Given the description of an element on the screen output the (x, y) to click on. 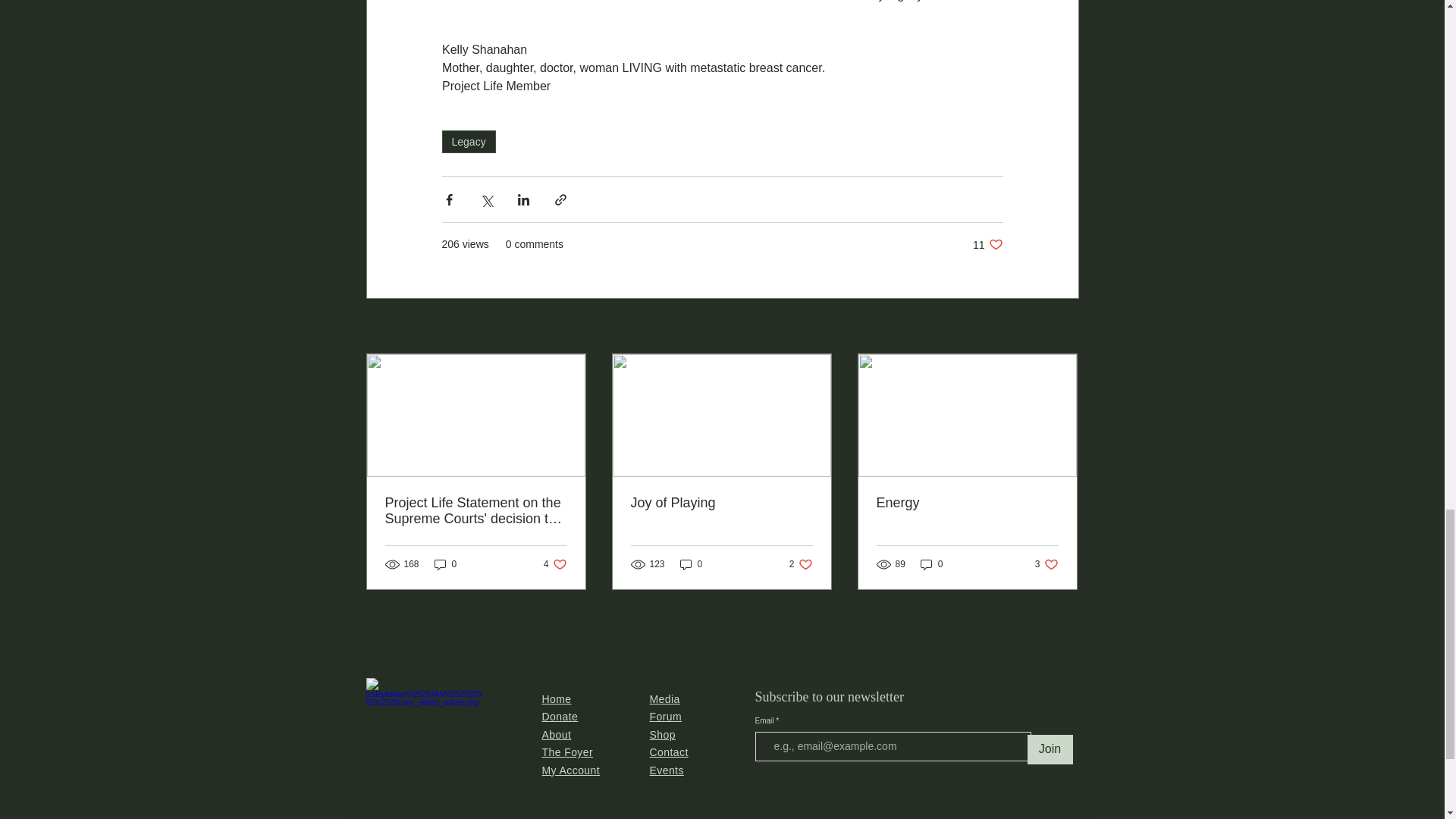
About (555, 734)
See All (1061, 327)
0 (931, 563)
0 (445, 563)
Donate (1046, 563)
Energy (559, 716)
Joy of Playing (967, 503)
